Given the description of an element on the screen output the (x, y) to click on. 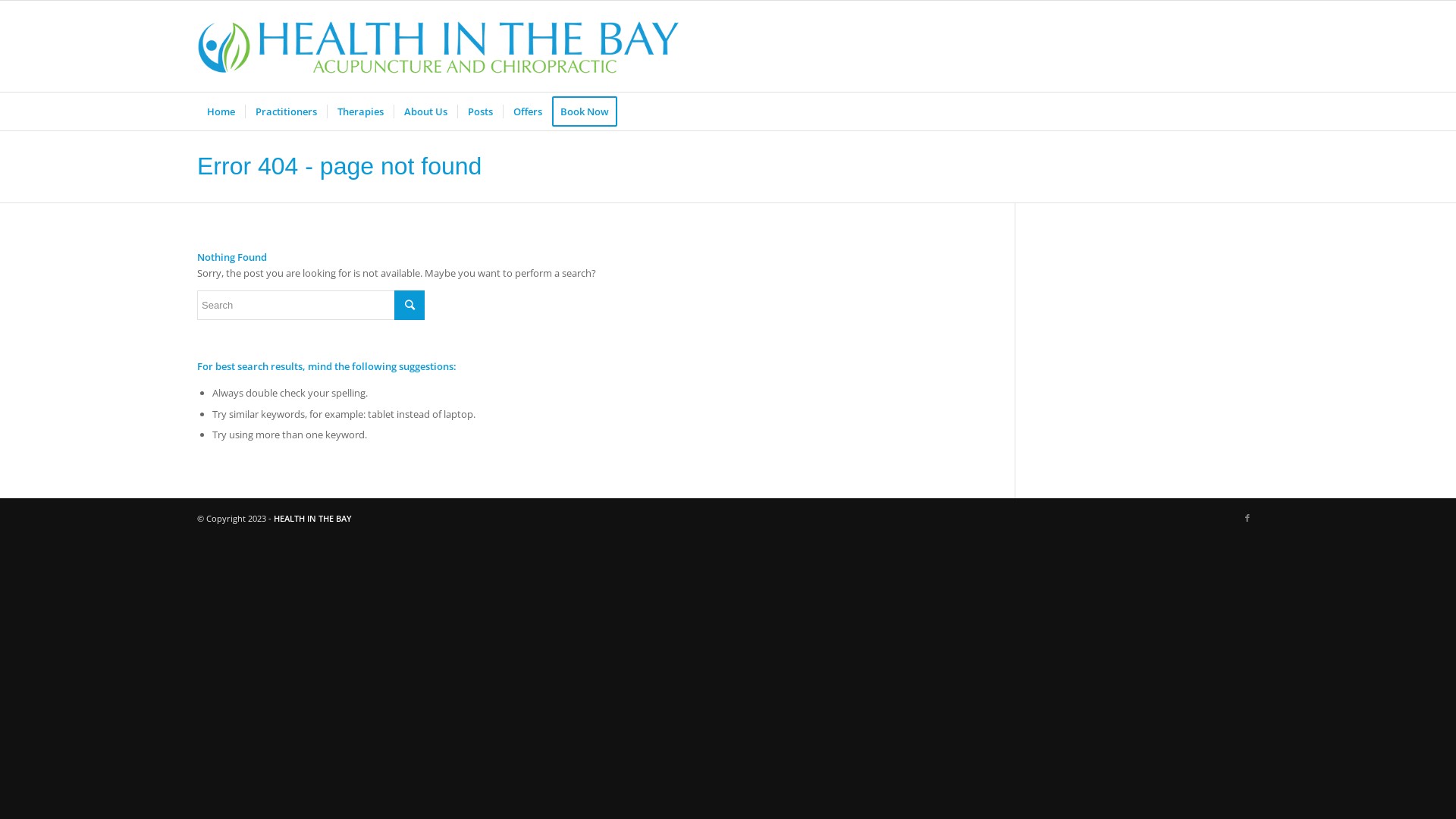
Practitioners Element type: text (285, 111)
Therapies Element type: text (359, 111)
About Us Element type: text (425, 111)
Home Element type: text (220, 111)
Posts Element type: text (479, 111)
Offers Element type: text (527, 111)
Facebook Element type: hover (1247, 517)
Book Now Element type: text (589, 111)
